Given the description of an element on the screen output the (x, y) to click on. 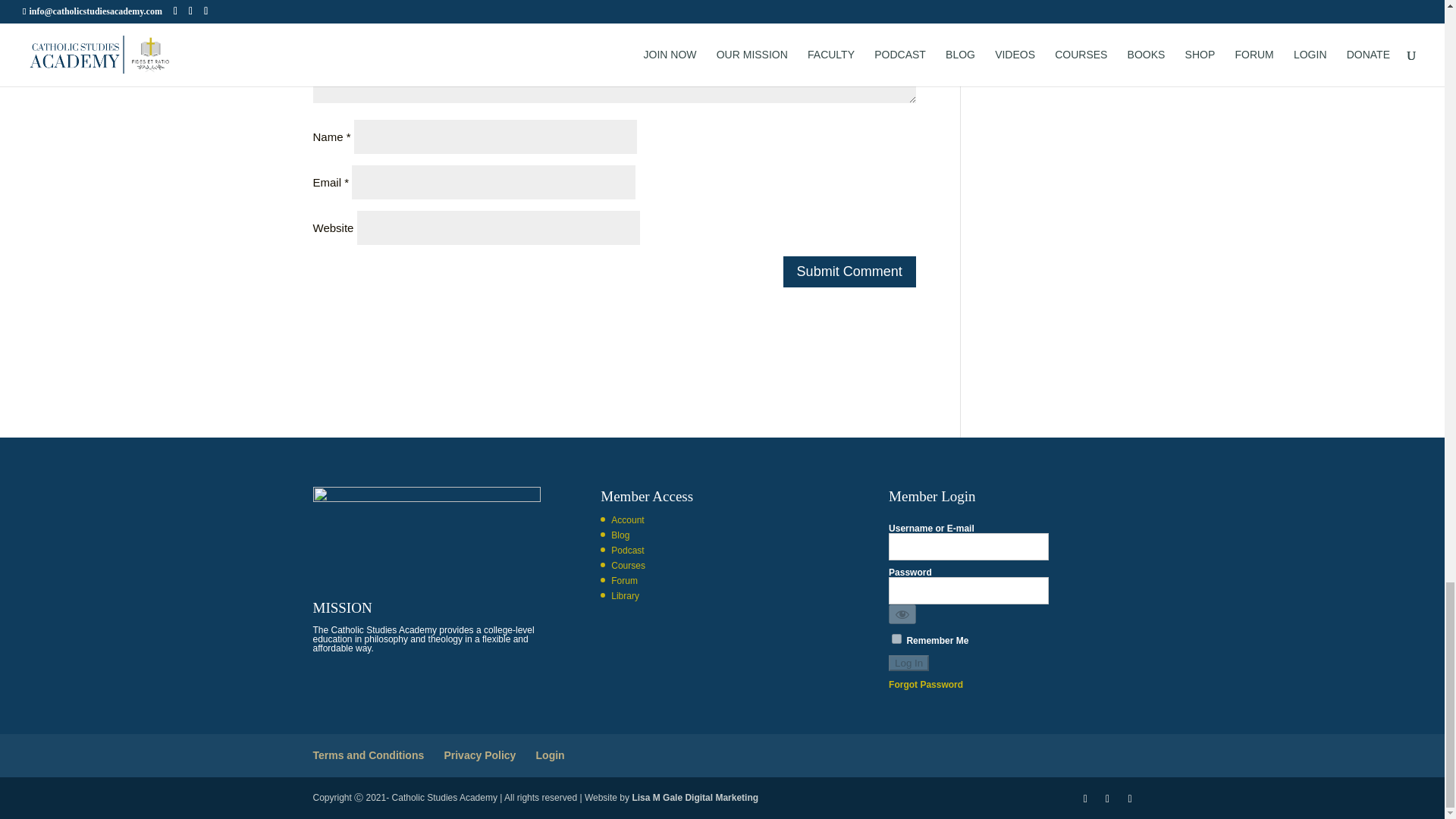
Log In (908, 662)
Submit Comment (849, 271)
forever (896, 638)
